Given the description of an element on the screen output the (x, y) to click on. 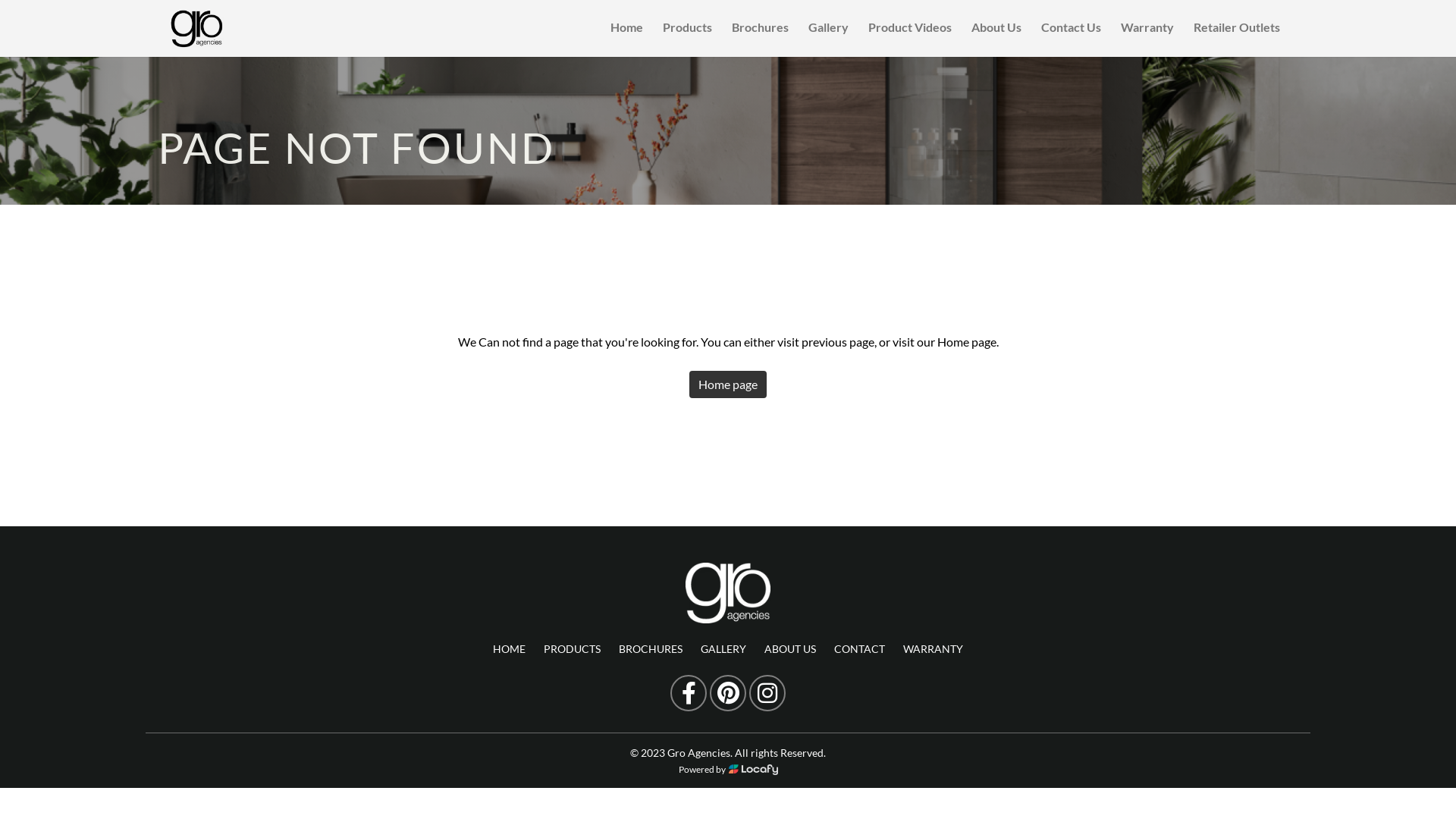
Brochures Element type: text (759, 27)
CONTACT Element type: text (859, 648)
About Us Element type: text (996, 27)
Warranty Element type: text (1146, 27)
Gallery Element type: text (828, 27)
WARRANTY Element type: text (933, 648)
GALLERY Element type: text (723, 648)
BROCHURES Element type: text (650, 648)
Products Element type: text (687, 27)
Retailer Outlets Element type: text (1236, 27)
PRODUCTS Element type: text (571, 648)
Home Element type: text (626, 27)
Our Instagram page Element type: hover (767, 692)
Product Videos Element type: text (909, 27)
HOME Element type: text (508, 648)
ABOUT US Element type: text (789, 648)
Home page Element type: text (727, 384)
Our Facebook page Element type: hover (688, 692)
Contact Us Element type: text (1071, 27)
Our Pinterest page Element type: hover (727, 692)
